Given the description of an element on the screen output the (x, y) to click on. 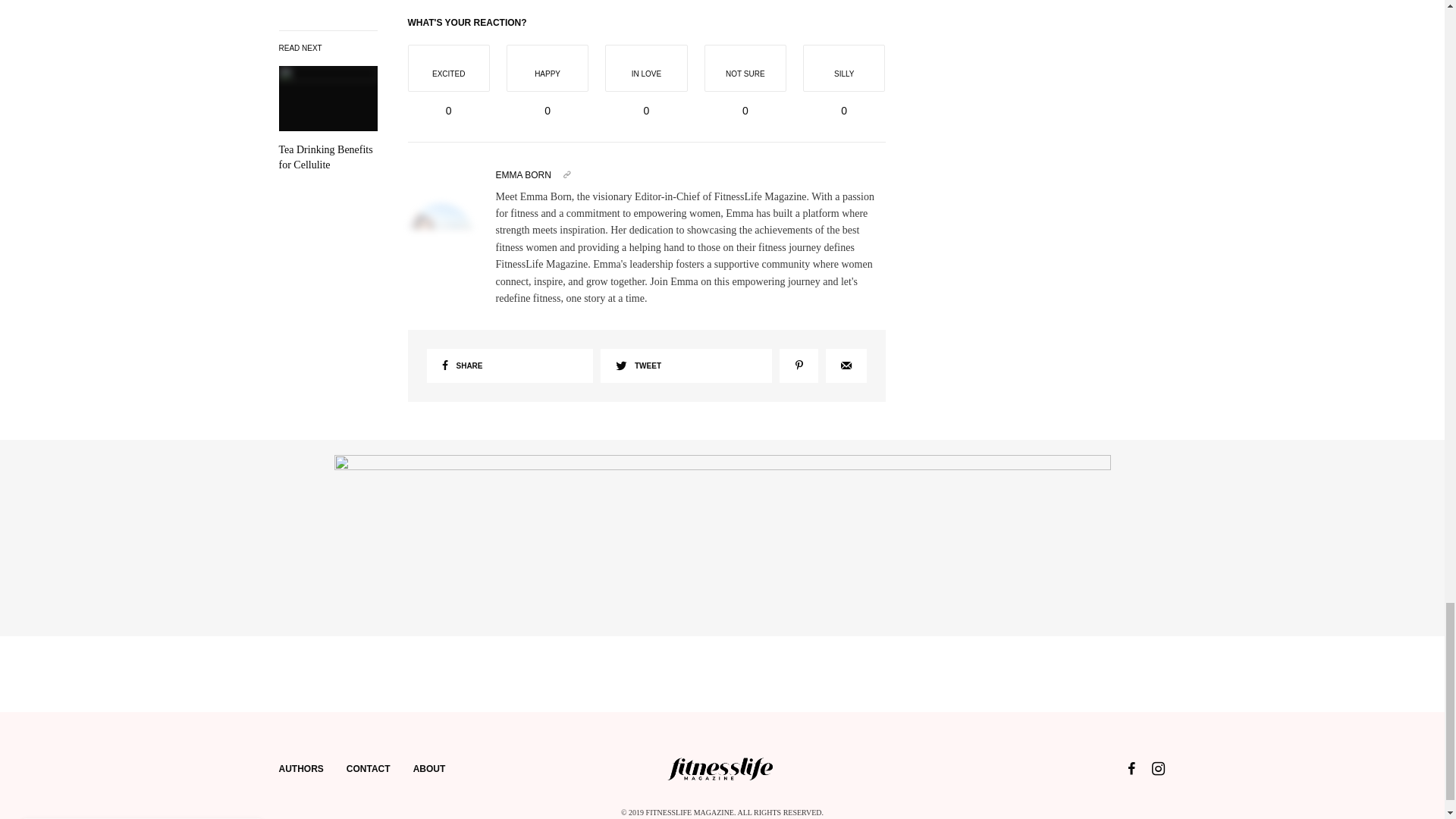
SHARE (509, 365)
EMMA BORN (523, 174)
